Given the description of an element on the screen output the (x, y) to click on. 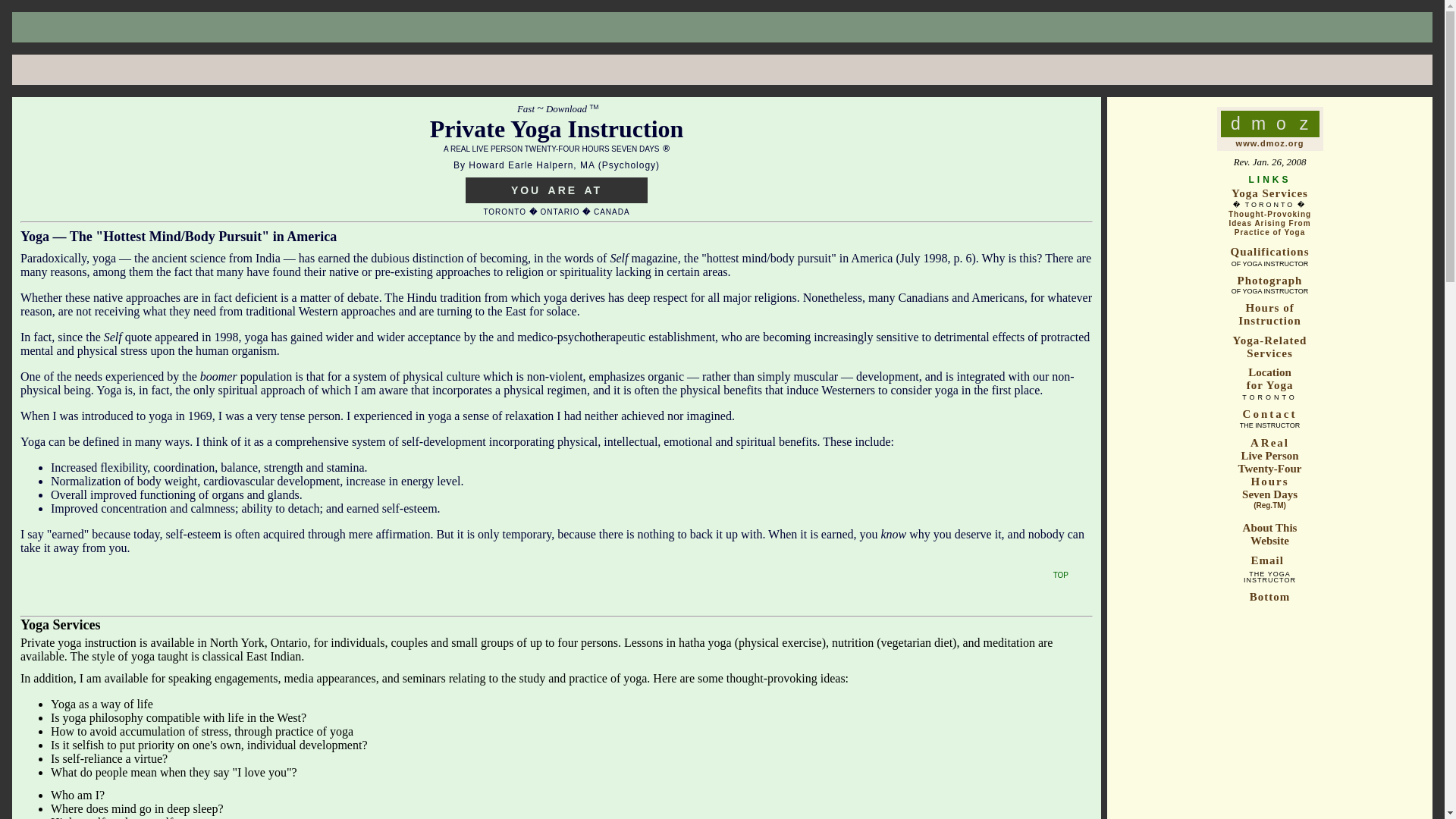
www.dmoz.org (1270, 142)
Qualifications (1269, 251)
The web's largest human-edited directory (1270, 143)
Photograph (1270, 280)
Yoga Services (1269, 193)
TOP (1270, 534)
Bottom (1270, 378)
Contact (1060, 573)
Email (1269, 596)
